Given the description of an element on the screen output the (x, y) to click on. 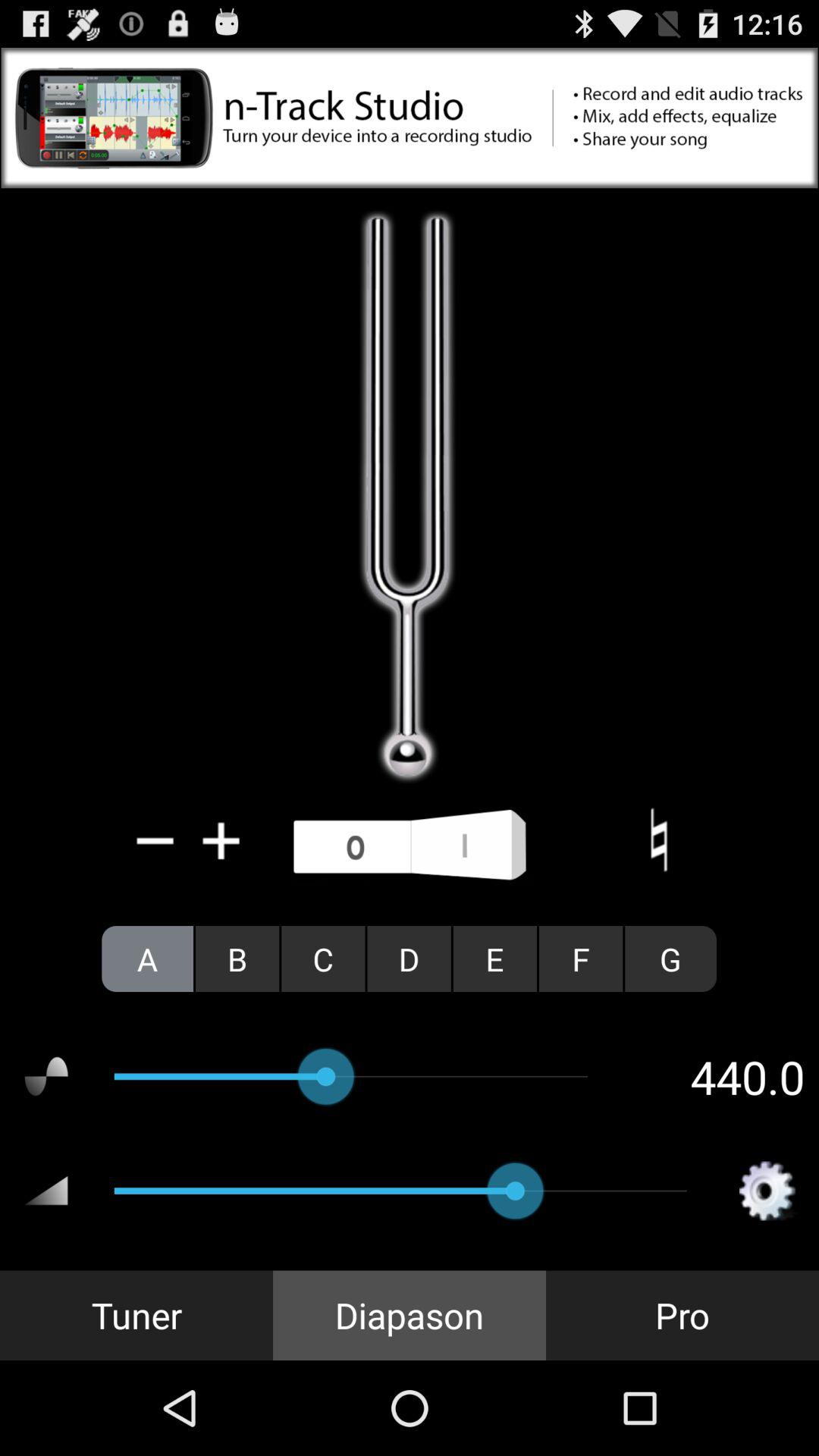
open item above f radio button (658, 840)
